Given the description of an element on the screen output the (x, y) to click on. 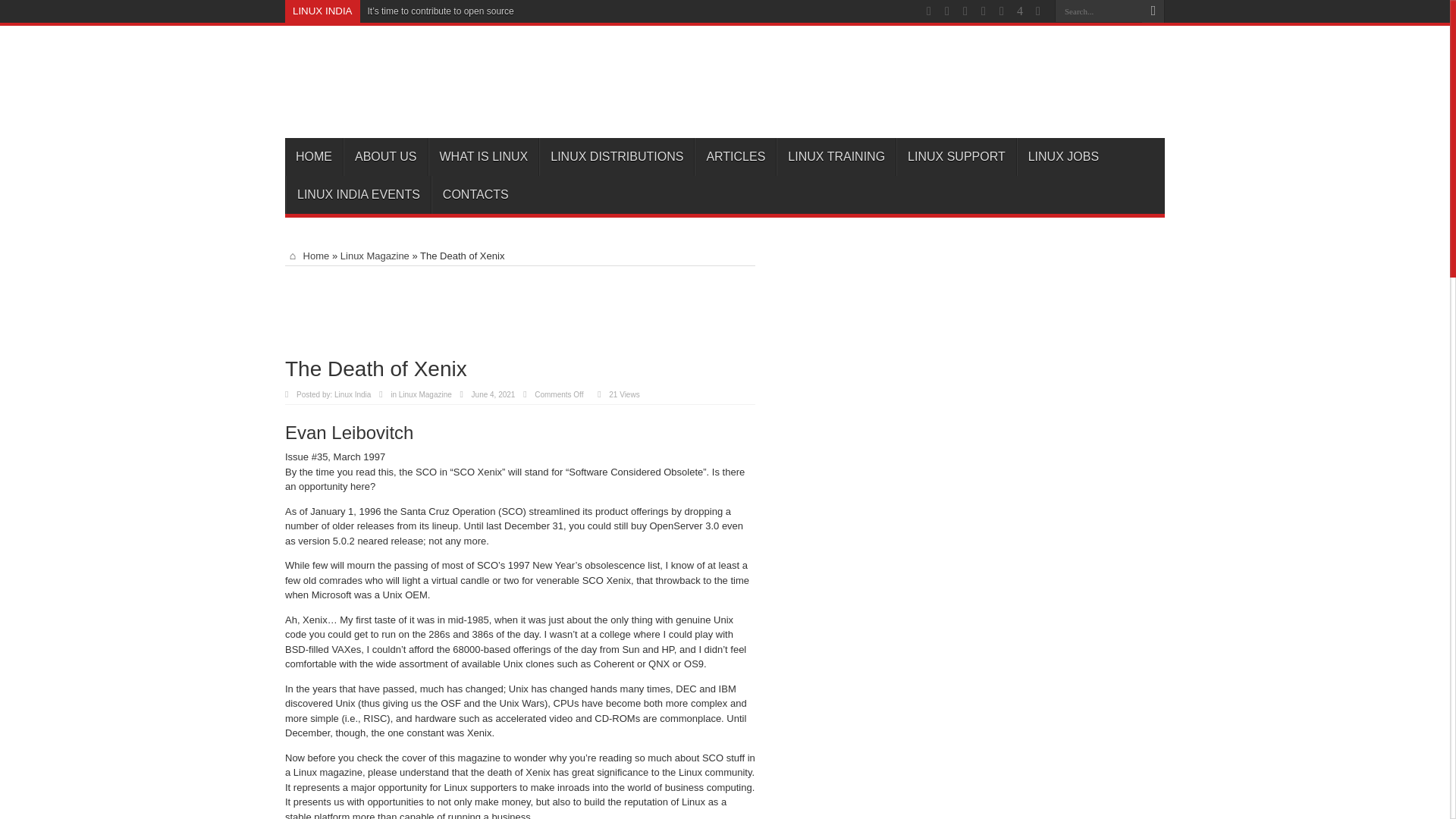
Linux Magazine (374, 255)
ARTICLES (735, 157)
Linux India (352, 394)
ABOUT US (385, 157)
LINUX JOBS (1062, 157)
LINUX INDIA EVENTS (357, 194)
WHAT IS LINUX (483, 157)
Search... (1097, 11)
LINUX SUPPORT (956, 157)
HOME (313, 157)
LINUX TRAINING (835, 157)
CONTACTS (474, 194)
LINUX DISTRIBUTIONS (616, 157)
Search (1152, 11)
Linux Magazine (424, 394)
